Given the description of an element on the screen output the (x, y) to click on. 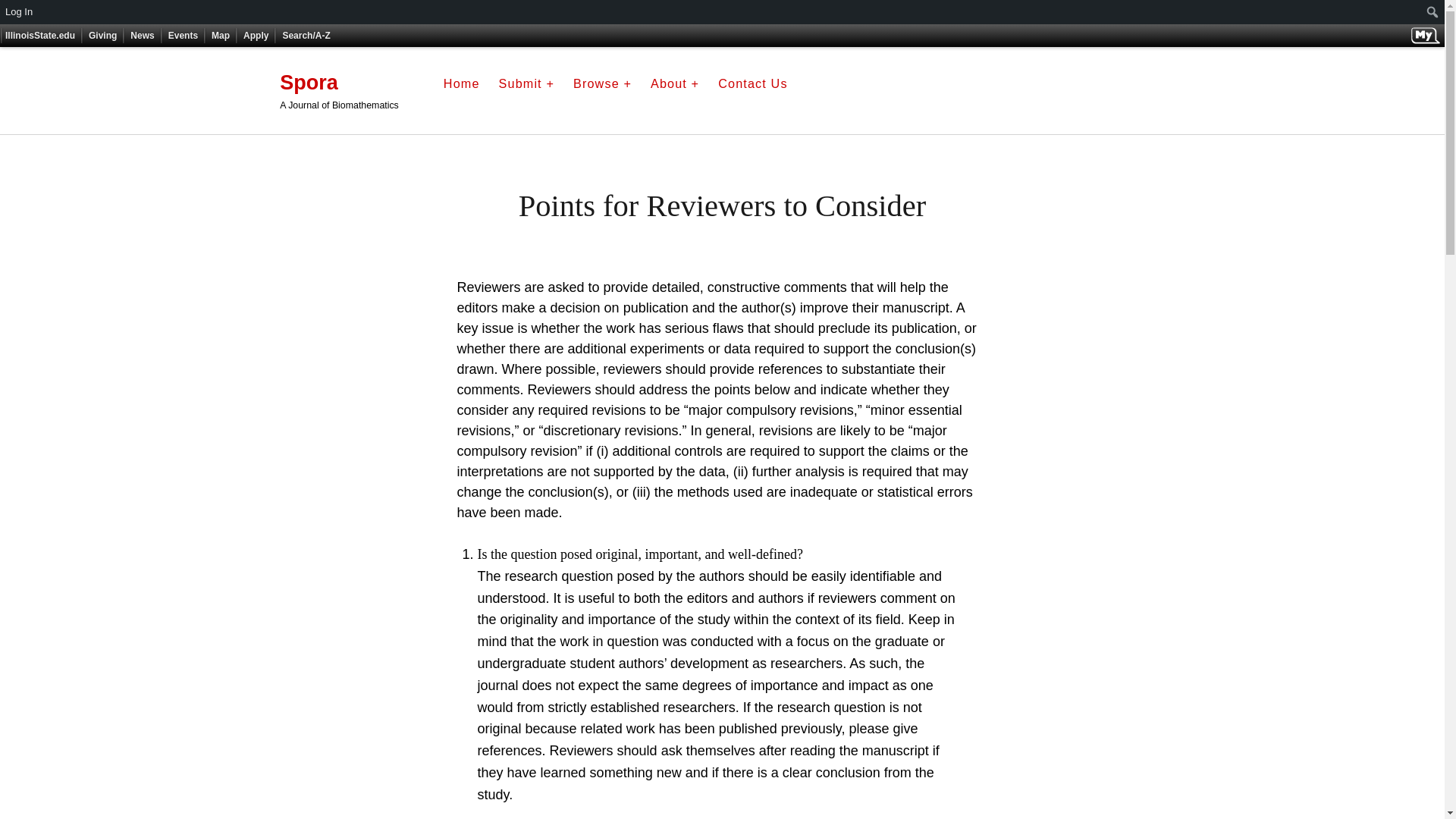
Browse (602, 84)
IllinoisState.edu (40, 35)
Giving (102, 35)
Contact Us (752, 84)
About (674, 84)
Home (462, 84)
Events (183, 35)
News (141, 35)
Log In (19, 12)
Search (36, 12)
Map (220, 35)
Submit (526, 84)
Apply (255, 35)
Spora (308, 82)
